Given the description of an element on the screen output the (x, y) to click on. 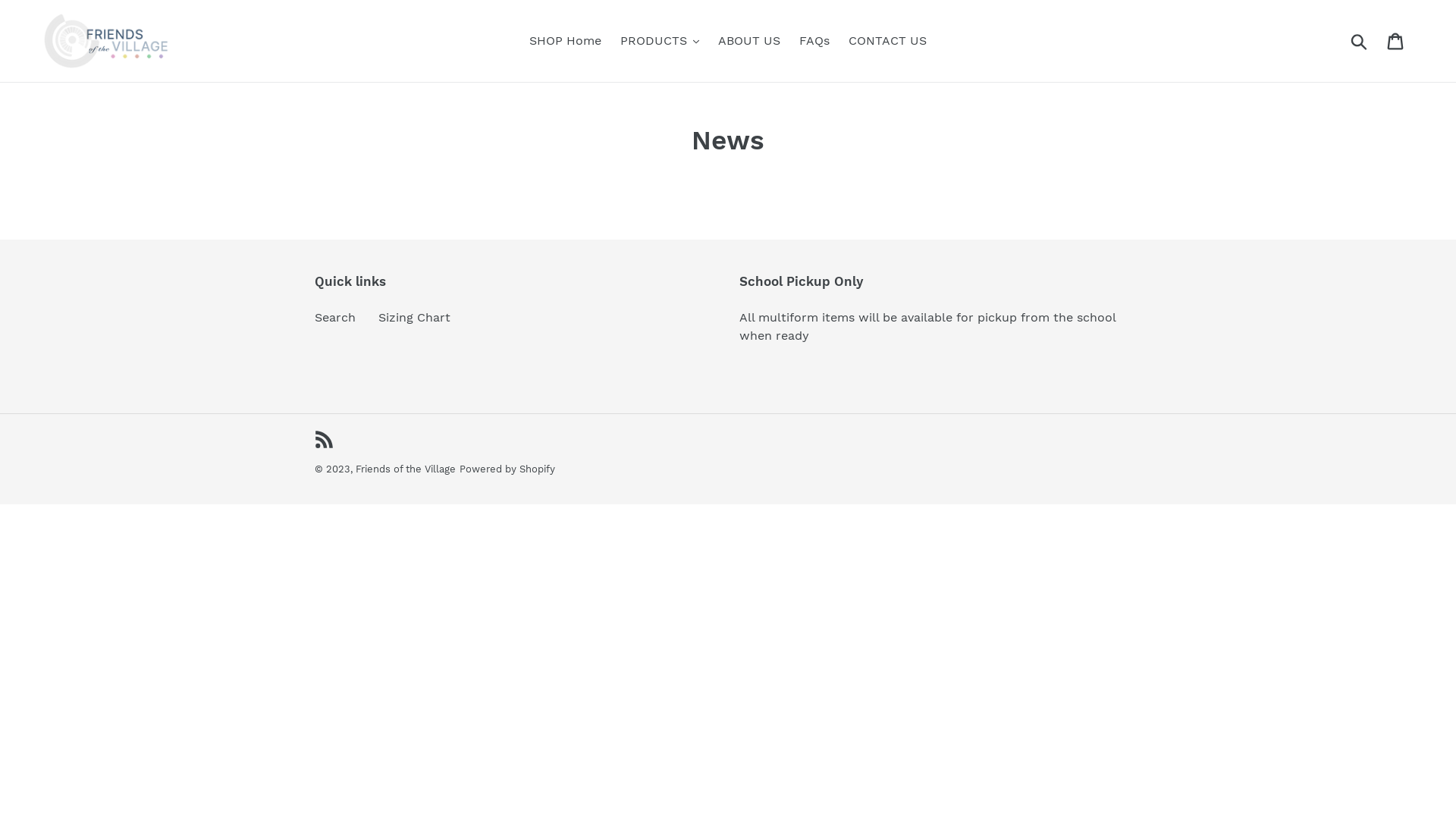
Friends of the Village Element type: text (405, 469)
ABOUT US Element type: text (748, 40)
Search Element type: text (334, 317)
FAQs Element type: text (814, 40)
Sizing Chart Element type: text (414, 317)
RSS Element type: text (323, 438)
Powered by Shopify Element type: text (507, 469)
Submit Element type: text (1359, 40)
Cart Element type: text (1396, 41)
CONTACT US Element type: text (887, 40)
SHOP Home Element type: text (564, 40)
